Given the description of an element on the screen output the (x, y) to click on. 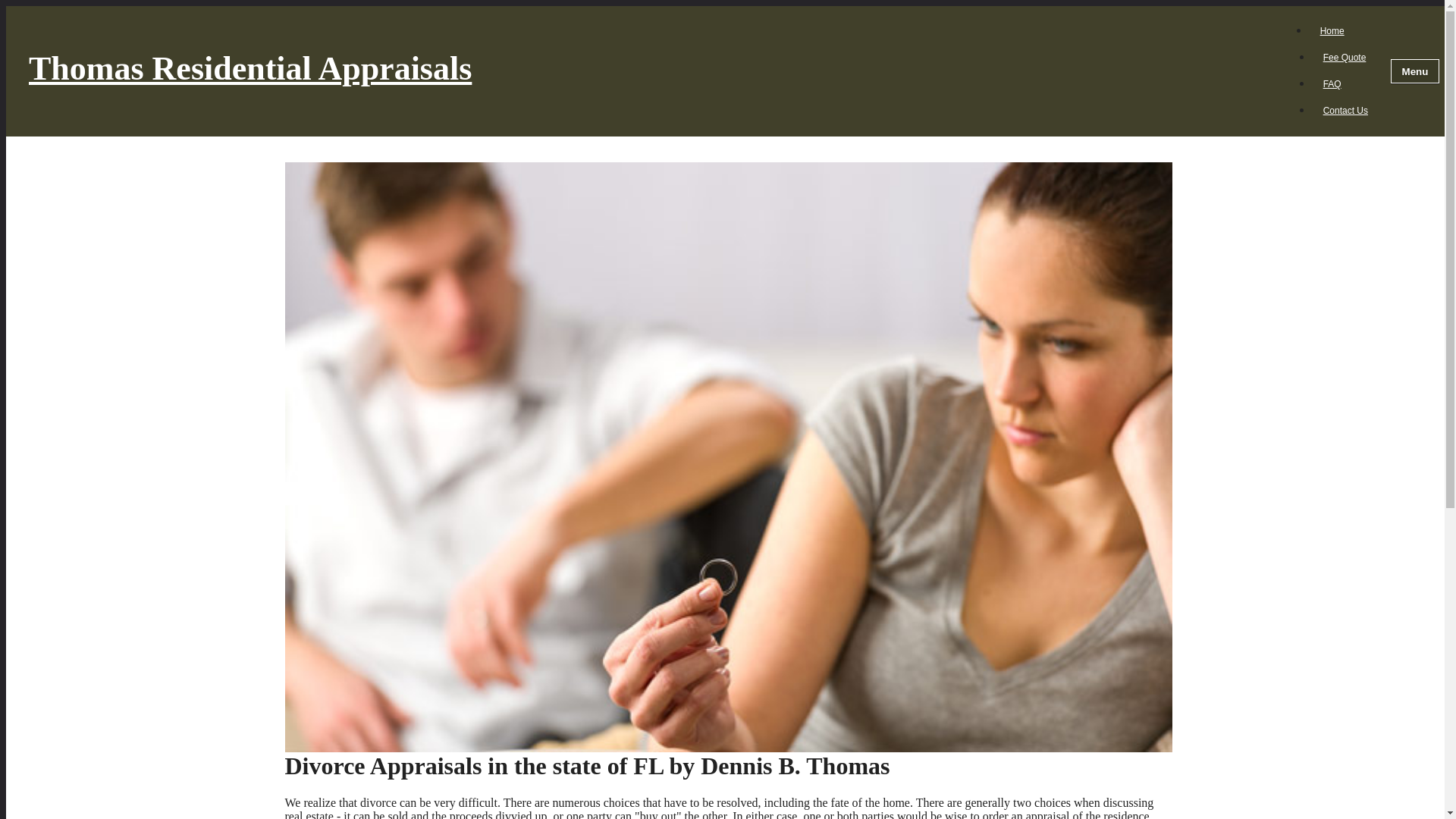
Thomas Residential Appraisals (653, 71)
Contact Us (1344, 110)
FAQ (1331, 84)
Home (1331, 30)
Menu (1414, 70)
Fee Quote (1344, 57)
